Given the description of an element on the screen output the (x, y) to click on. 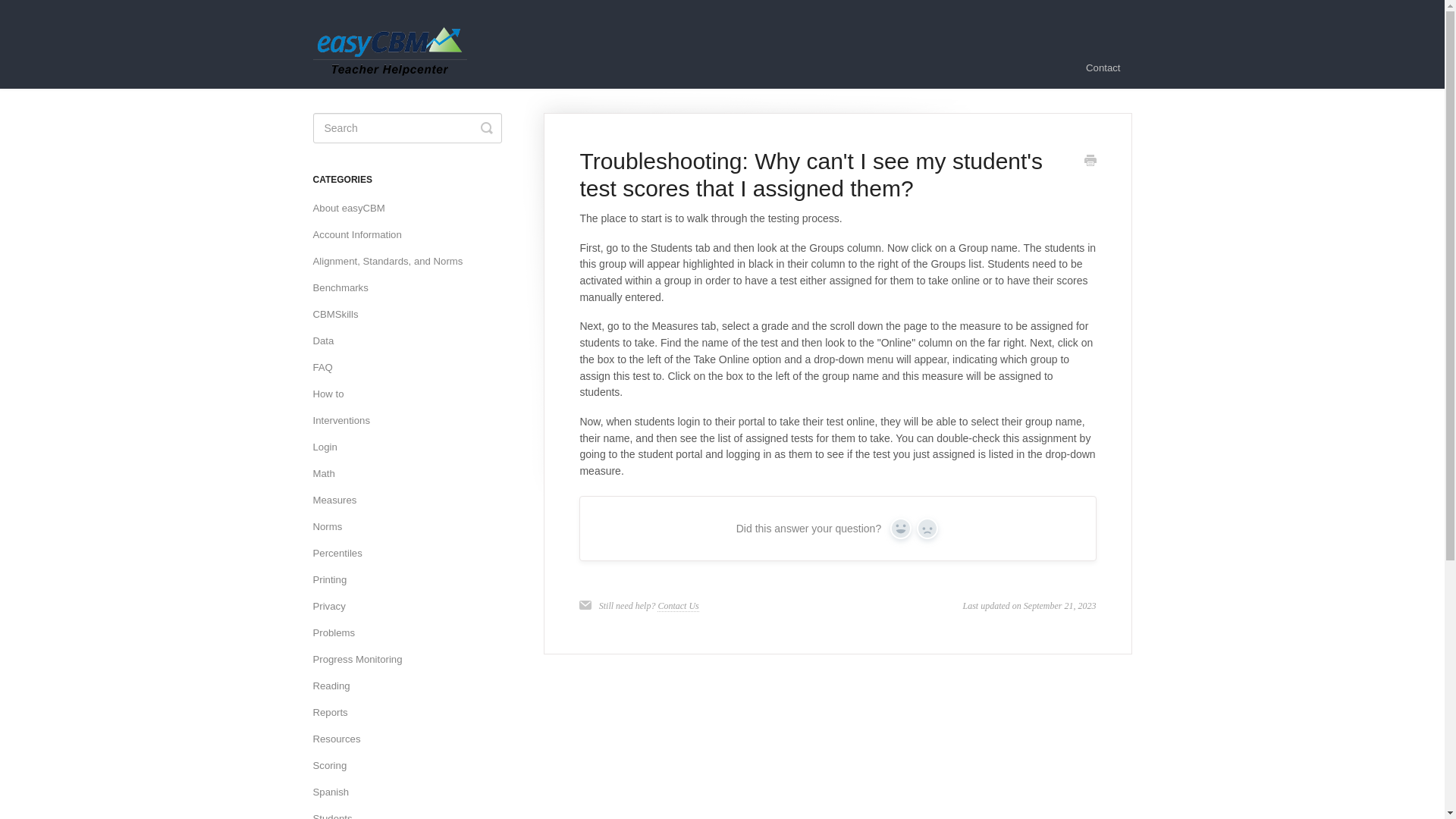
Login (330, 446)
About easyCBM (354, 208)
Data (329, 340)
Reading (337, 686)
Contact (1102, 67)
Progress Monitoring (363, 659)
How to (334, 394)
Students (337, 812)
FAQ (328, 367)
No (927, 527)
Scoring (335, 765)
Math (329, 473)
Norms (333, 526)
Resources (342, 739)
Alignment, Standards, and Norms (393, 261)
